Given the description of an element on the screen output the (x, y) to click on. 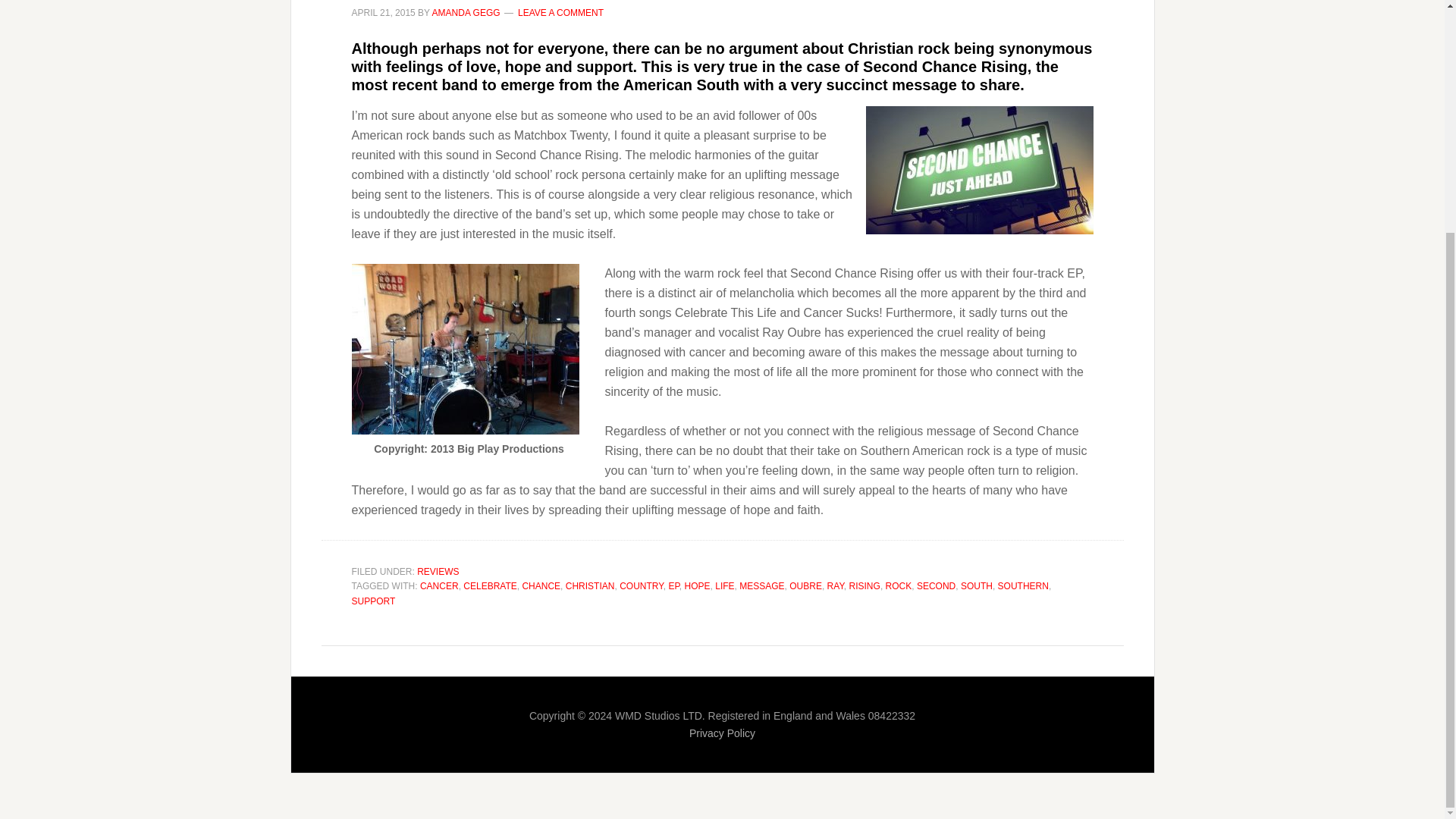
COUNTRY (641, 585)
LIFE (723, 585)
SECOND (936, 585)
HOPE (697, 585)
CELEBRATE (489, 585)
RAY (835, 585)
AMANDA GEGG (466, 12)
RISING (864, 585)
CANCER (439, 585)
EP (673, 585)
